Given the description of an element on the screen output the (x, y) to click on. 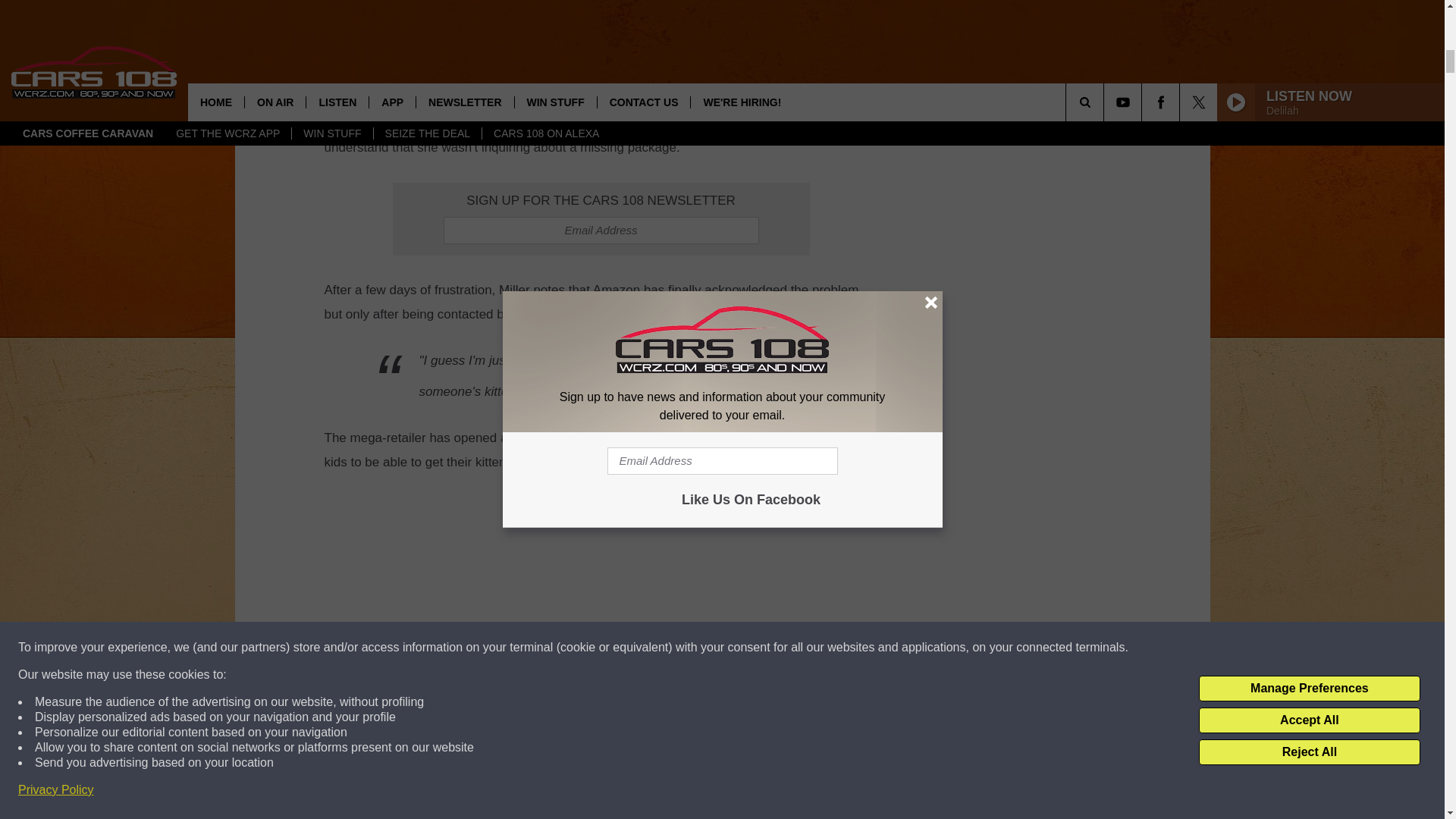
Email Address (600, 230)
